Given the description of an element on the screen output the (x, y) to click on. 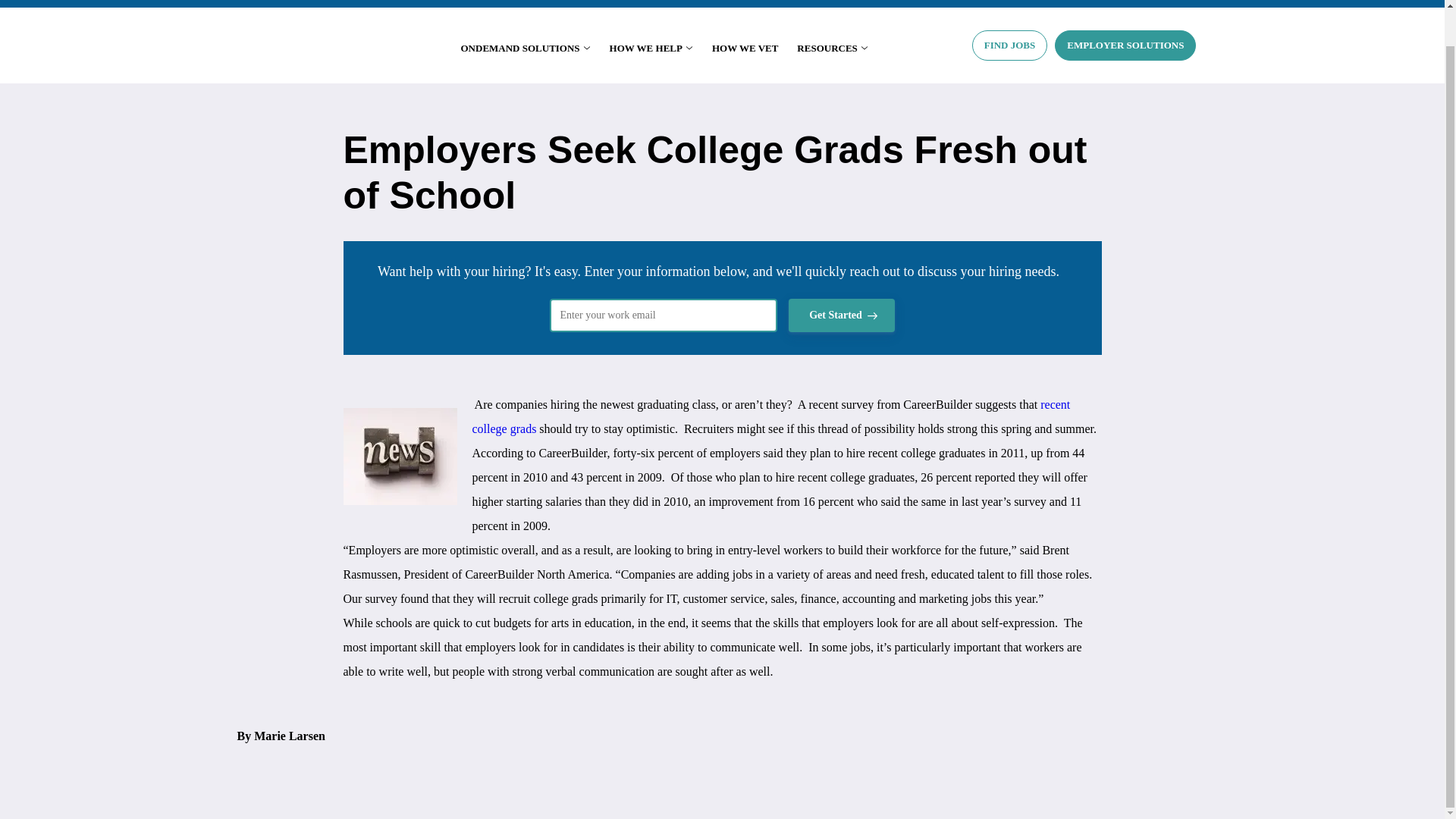
EMPLOYER SOLUTIONS (1124, 45)
recent college grads (770, 416)
Get Started (842, 315)
FIND JOBS (1010, 45)
HOW WE VET (744, 48)
news (399, 456)
HOW WE HELP (651, 48)
RESOURCES (831, 48)
ONDEMAND SOLUTIONS (526, 48)
